Given the description of an element on the screen output the (x, y) to click on. 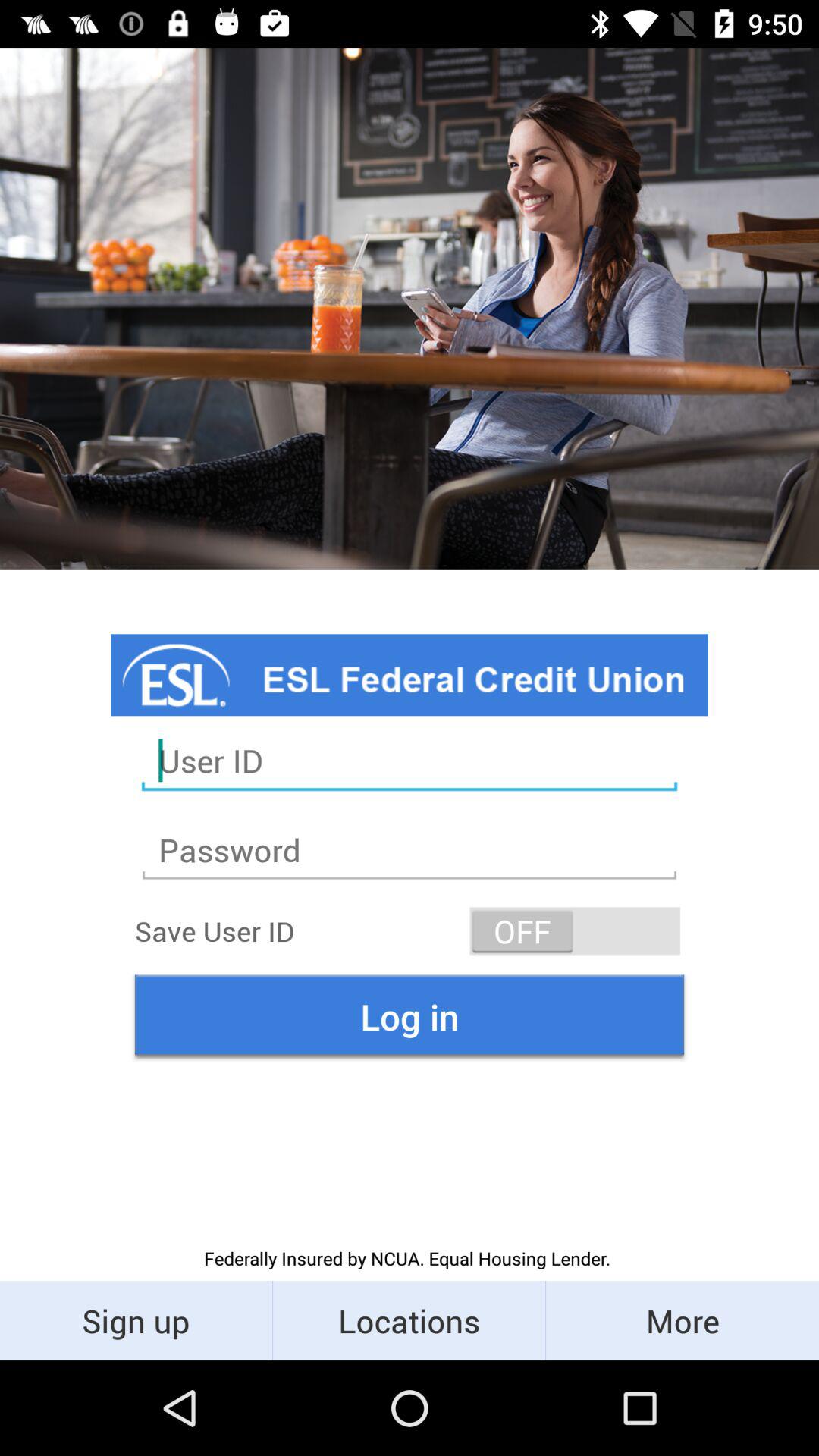
open the item on the right (574, 930)
